Given the description of an element on the screen output the (x, y) to click on. 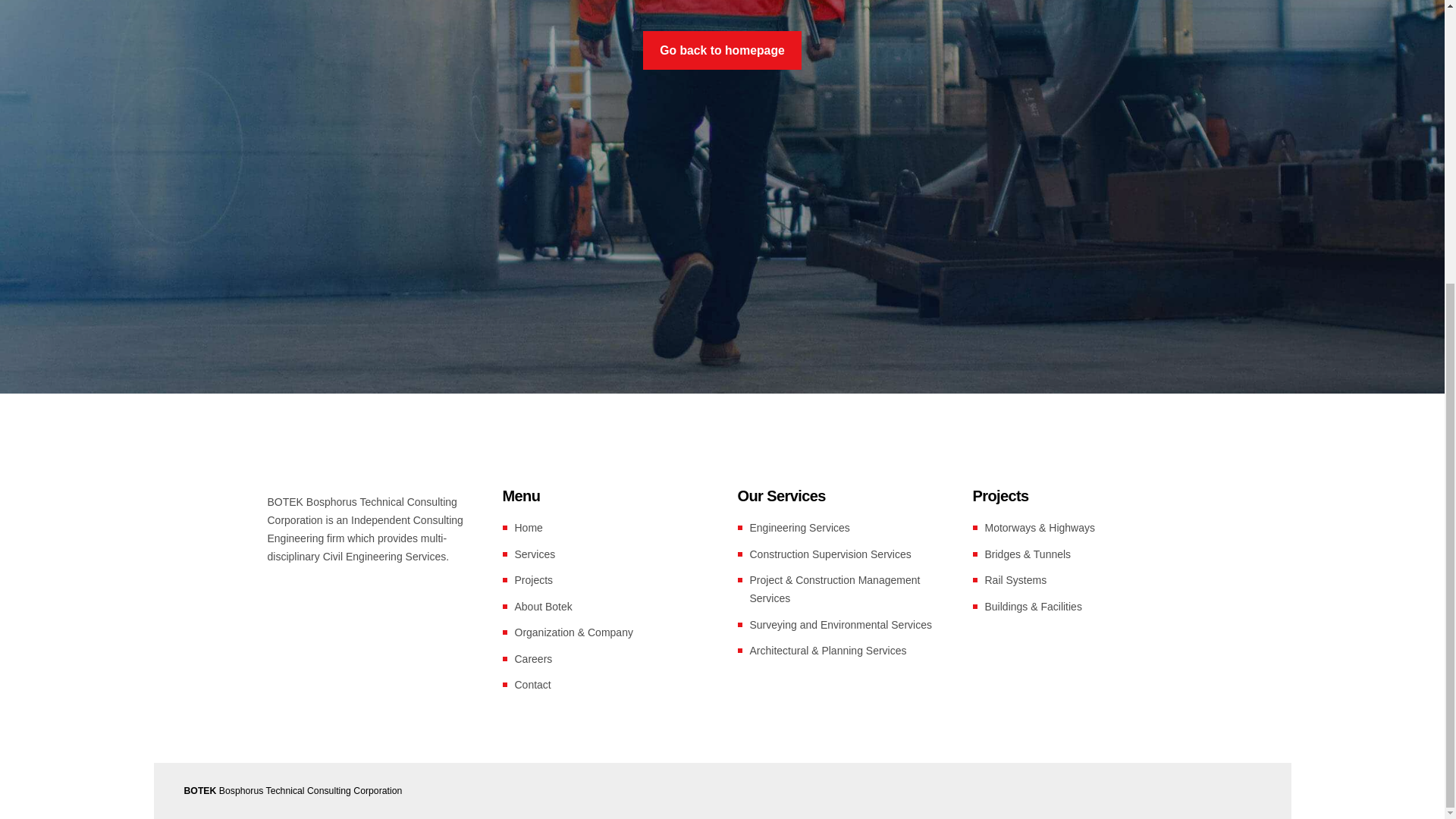
Construction Supervision Services (830, 553)
Surveying and Environmental Services (840, 623)
Engineering Services (798, 527)
About Botek (542, 605)
Go back to homepage (722, 50)
Home (527, 527)
Contact (531, 684)
Projects (533, 580)
Services (533, 553)
